Given the description of an element on the screen output the (x, y) to click on. 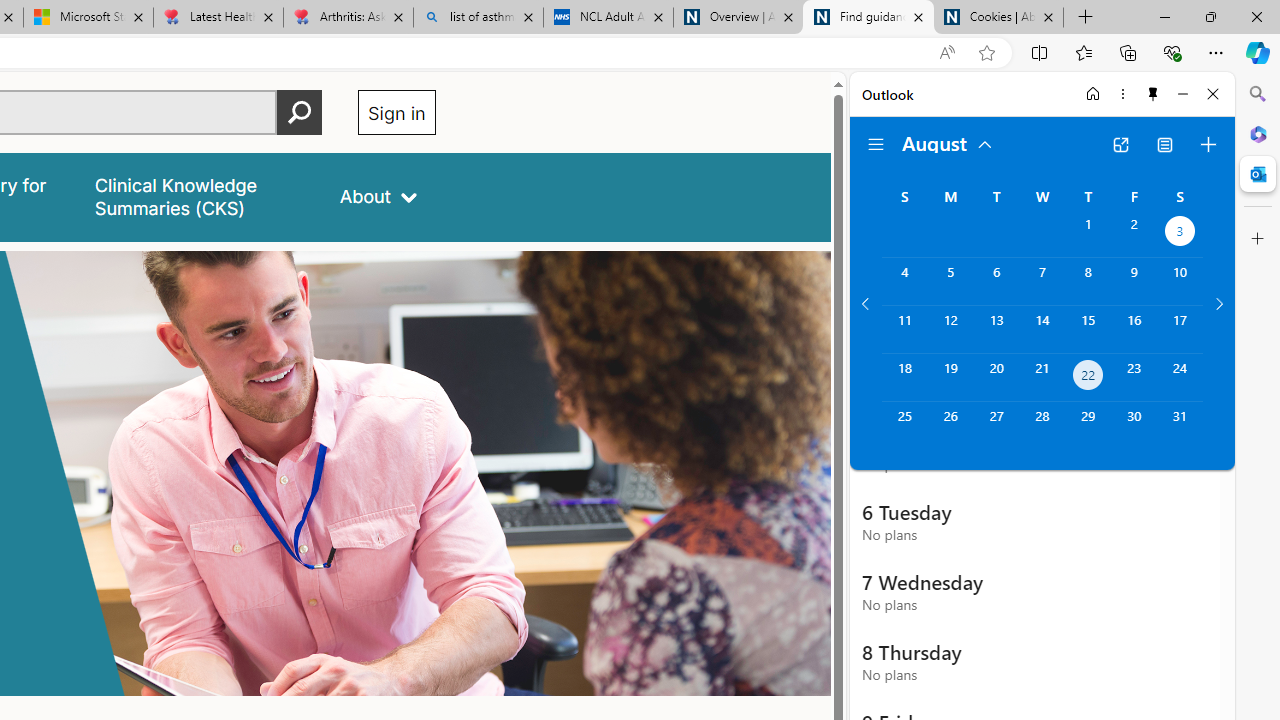
More options (1122, 93)
Home (1093, 93)
Microsoft Start (88, 17)
Wednesday, August 14, 2024.  (1042, 329)
Minimize (1182, 93)
Create event (1208, 144)
New Tab (1085, 17)
Copilot (Ctrl+Shift+.) (1258, 52)
Tuesday, August 20, 2024.  (996, 377)
Restore (1210, 16)
Cookies | About | NICE (998, 17)
Sunday, August 18, 2024.  (904, 377)
Close (1213, 93)
